Given the description of an element on the screen output the (x, y) to click on. 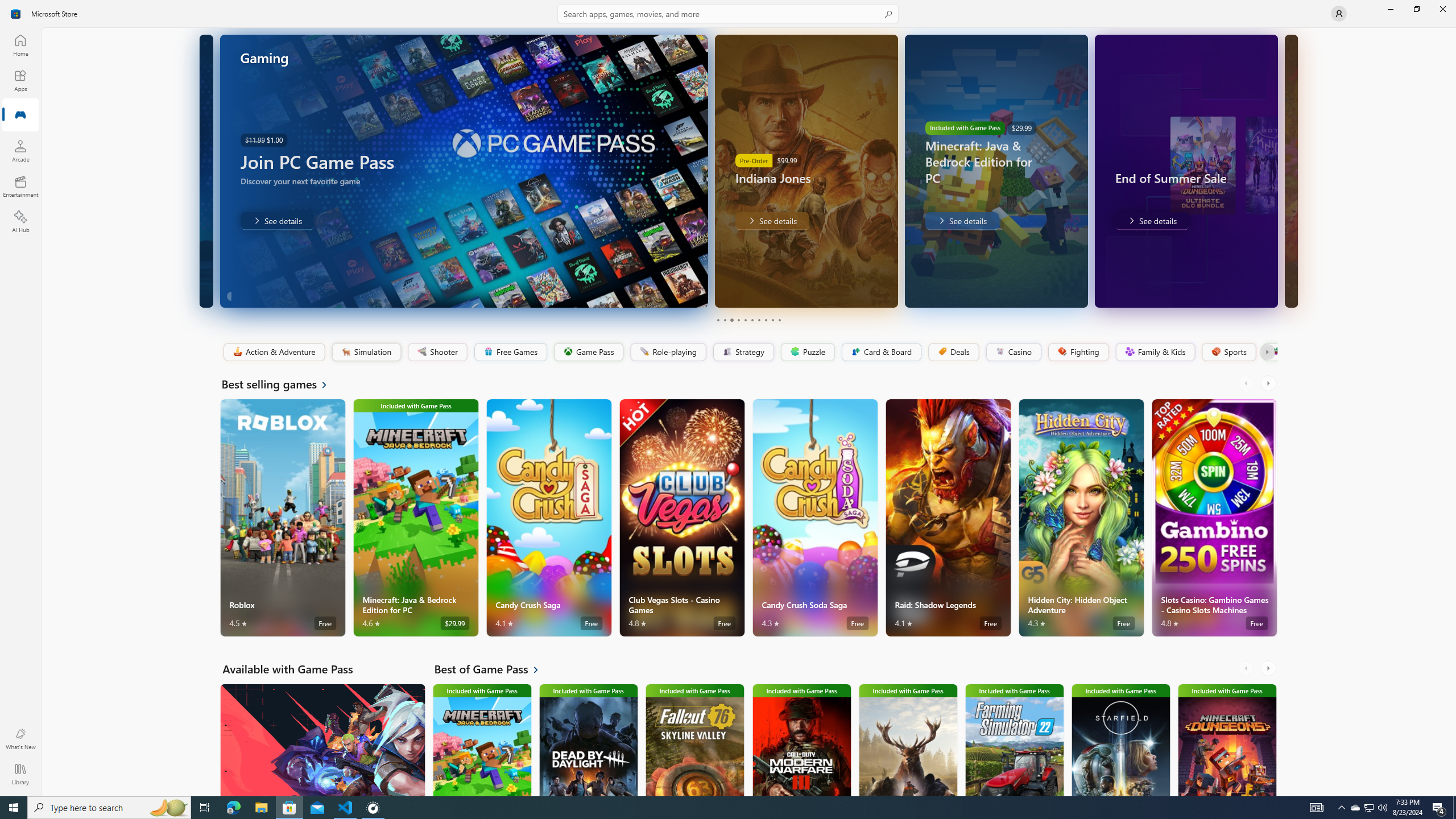
AutomationID: NavigationControl (728, 398)
Action & Adventure (273, 352)
See all  Best selling games (280, 383)
Pager (748, 319)
Shooter (436, 352)
See all  Best of Game Pass (493, 668)
Available with Game Pass. VALORANT (322, 739)
End of Summer Sale. Save up to 80%.  . See details (1151, 221)
